Given the description of an element on the screen output the (x, y) to click on. 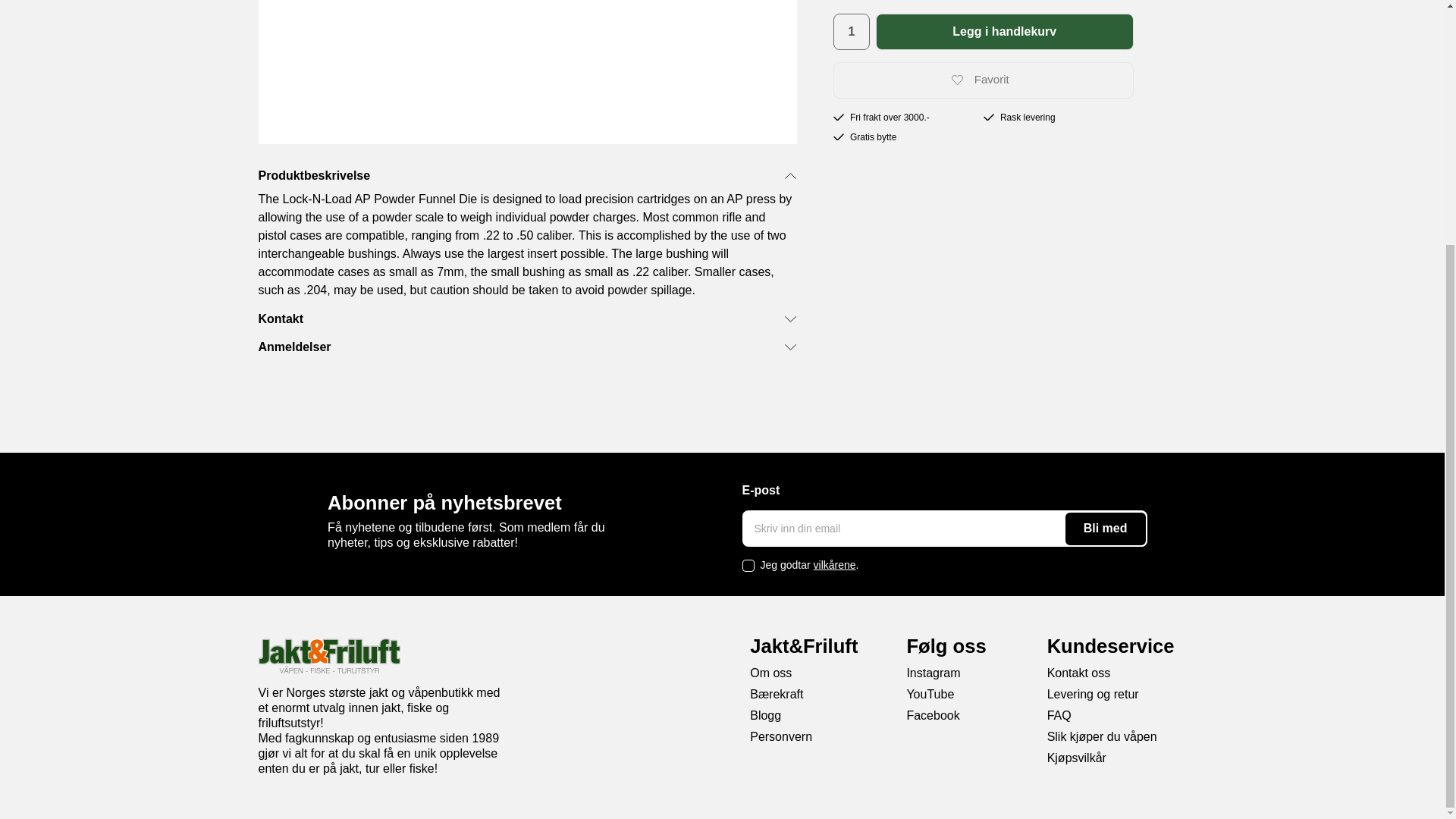
Bli med (1105, 529)
1 (850, 31)
Kombi og drilling (363, 9)
Hornady Ap Powder Funnel Die (526, 72)
